Given the description of an element on the screen output the (x, y) to click on. 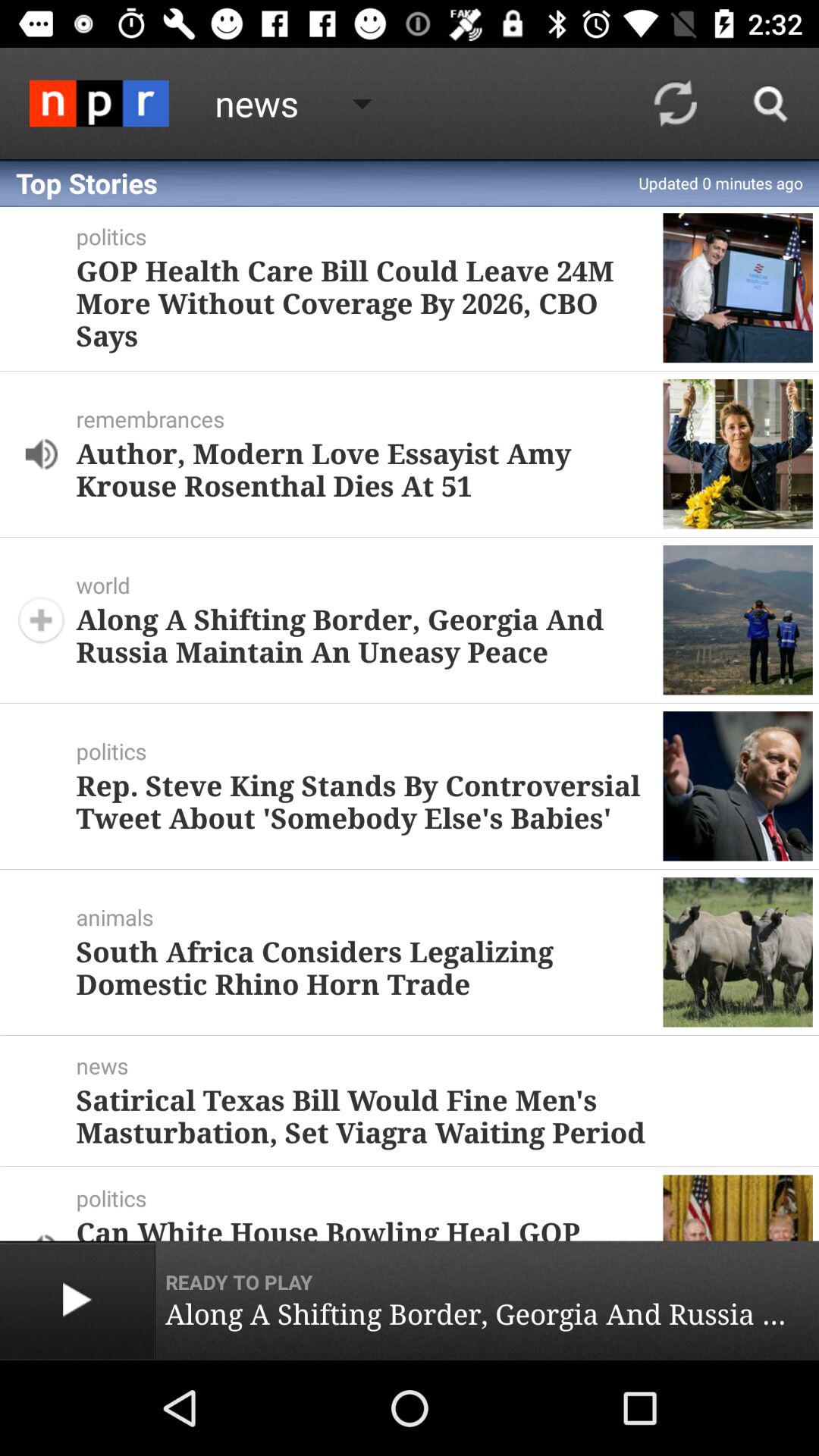
swipe until the south africa considers (363, 967)
